Given the description of an element on the screen output the (x, y) to click on. 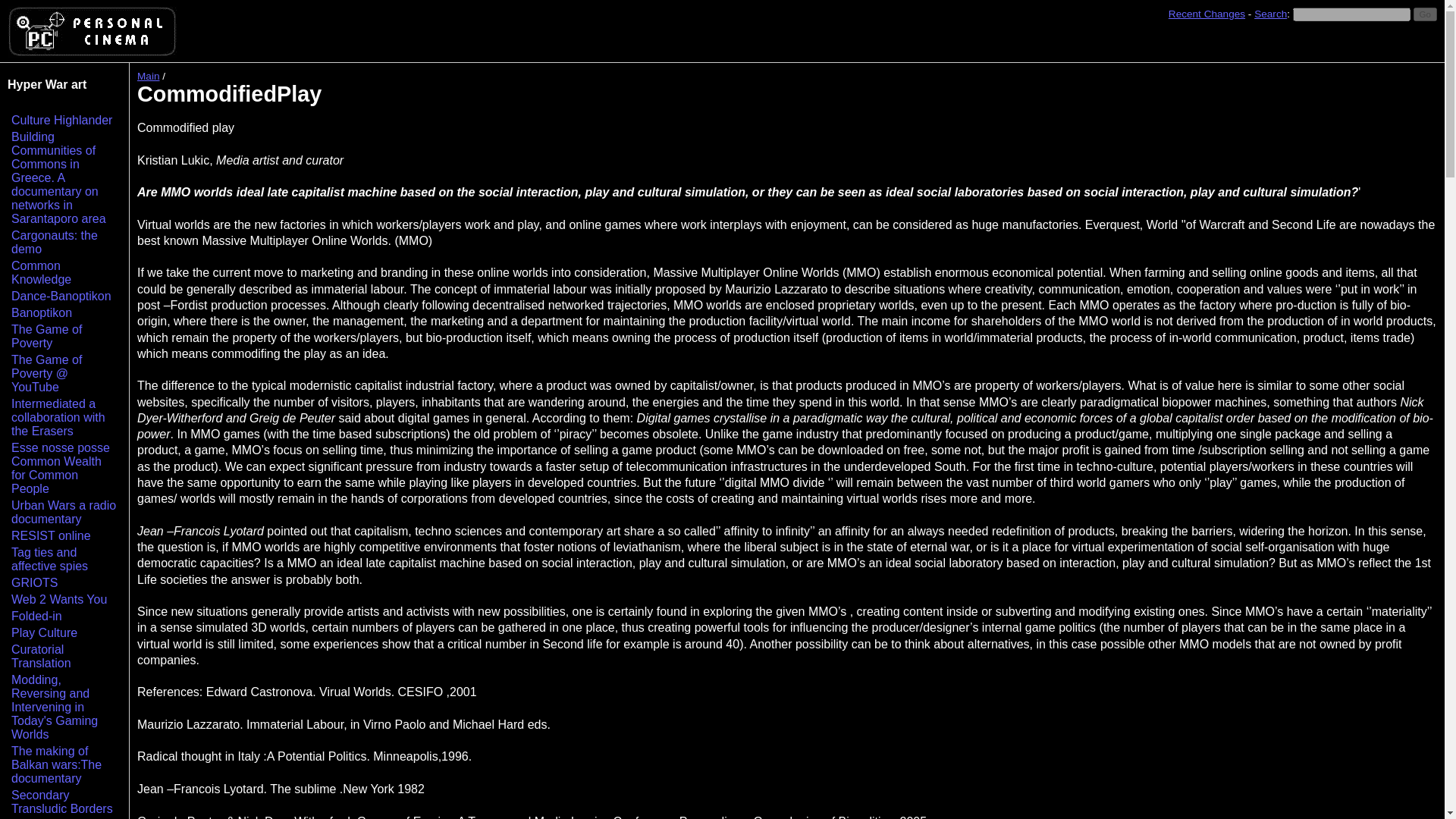
Dance-Banoptikon (61, 295)
The Game of Poverty (46, 335)
Tag ties and affective spies (49, 559)
Banoptikon (41, 312)
GRIOTS (34, 582)
Folded-in (36, 615)
Intermediated a collaboration with the Erasers (57, 417)
Urban Wars a radio documentary (63, 511)
Go (1425, 14)
